Given the description of an element on the screen output the (x, y) to click on. 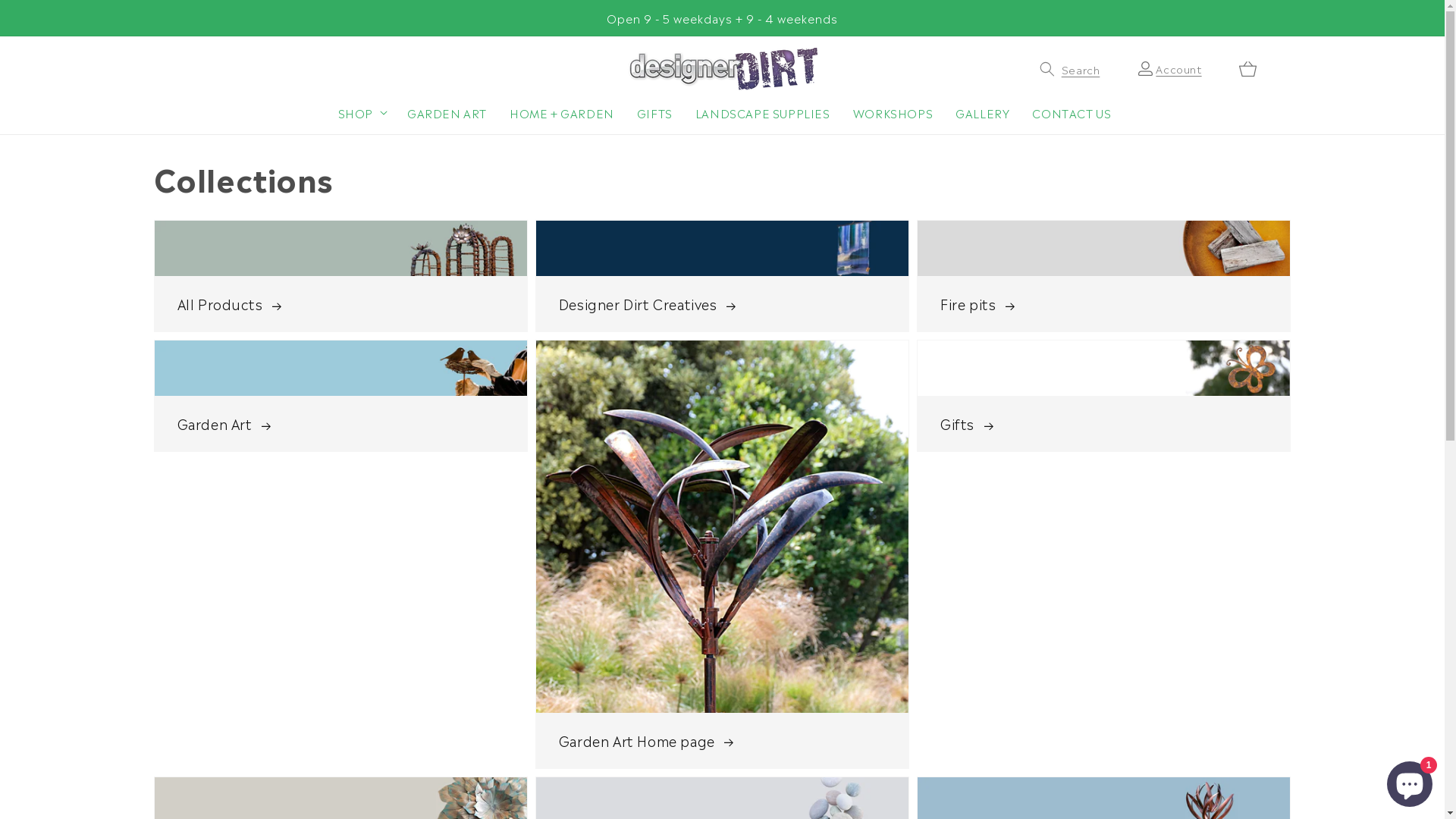
Shopify online store chat Element type: hover (1409, 780)
Garden Art  Element type: text (340, 395)
Cart Element type: text (1247, 67)
CONTACT US Element type: text (1069, 111)
All Products  Element type: text (340, 275)
WORKSHOPS Element type: text (890, 111)
Fire pits  Element type: text (1103, 275)
Account
Log in Element type: text (1178, 67)
LANDSCAPE SUPPLIES Element type: text (760, 111)
Designer Dirt Creatives  Element type: text (722, 275)
Gifts  Element type: text (1103, 395)
GARDEN ART Element type: text (444, 111)
Garden Art Home page  Element type: text (722, 553)
GALLERY Element type: text (979, 111)
HOME + GARDEN Element type: text (559, 111)
GIFTS Element type: text (652, 111)
